Given the description of an element on the screen output the (x, y) to click on. 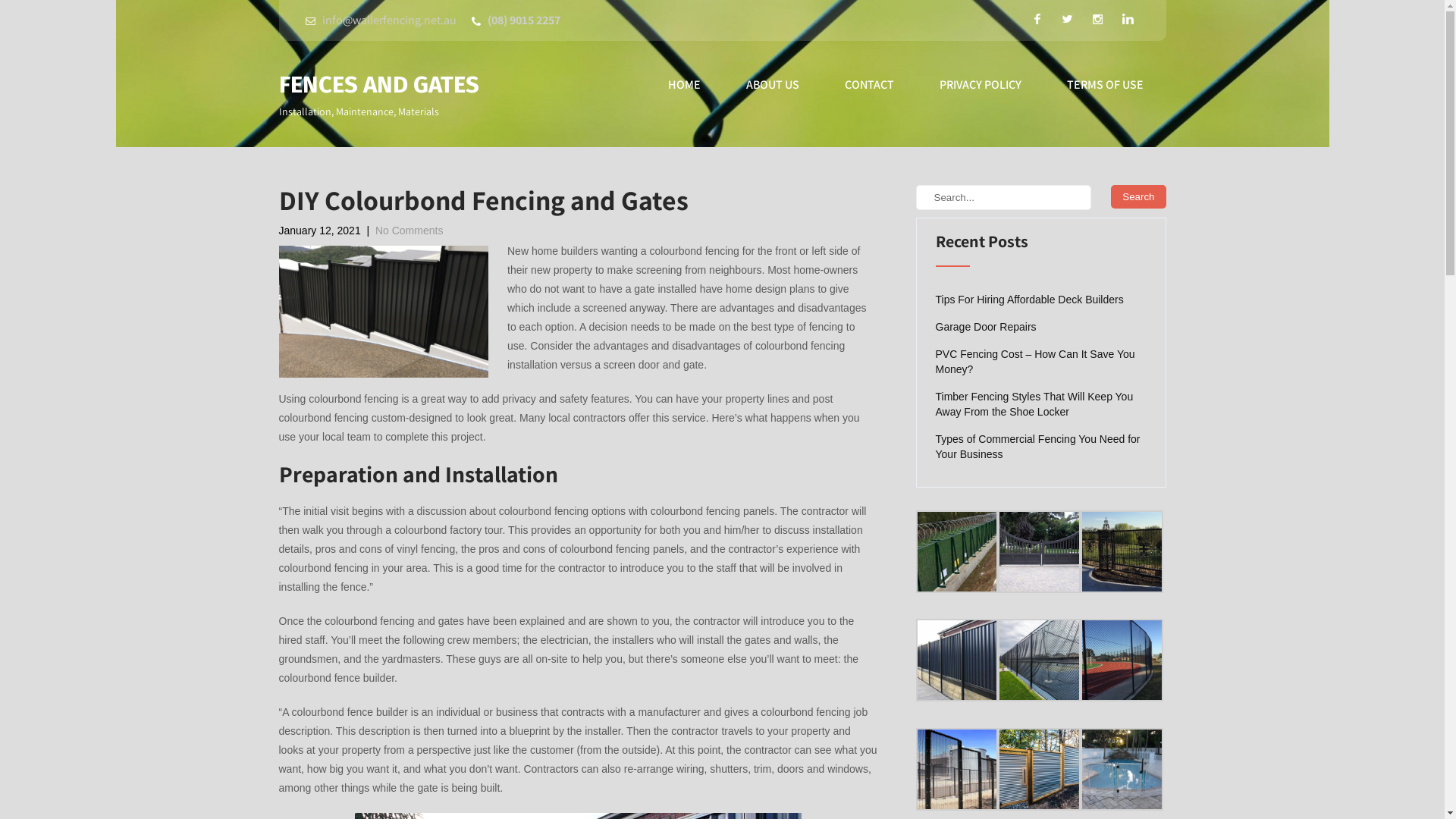
Garage Door Repairs Element type: text (985, 326)
Tips For Hiring Affordable Deck Builders Element type: text (1029, 299)
HOME Element type: text (683, 84)
instagram-link Element type: hover (1097, 18)
No Comments Element type: text (408, 230)
FENCES AND GATES
Installation, Maintenance, Materials Element type: text (379, 97)
Types of Commercial Fencing You Need for Your Business Element type: text (1040, 446)
CONTACT Element type: text (869, 84)
Search Element type: text (1137, 196)
linkedin Element type: hover (1128, 18)
TERMS OF USE Element type: text (1104, 84)
twitter Element type: hover (1067, 18)
facebook Element type: hover (1037, 18)
PRIVACY POLICY Element type: text (979, 84)
ABOUT US Element type: text (772, 84)
